Given the description of an element on the screen output the (x, y) to click on. 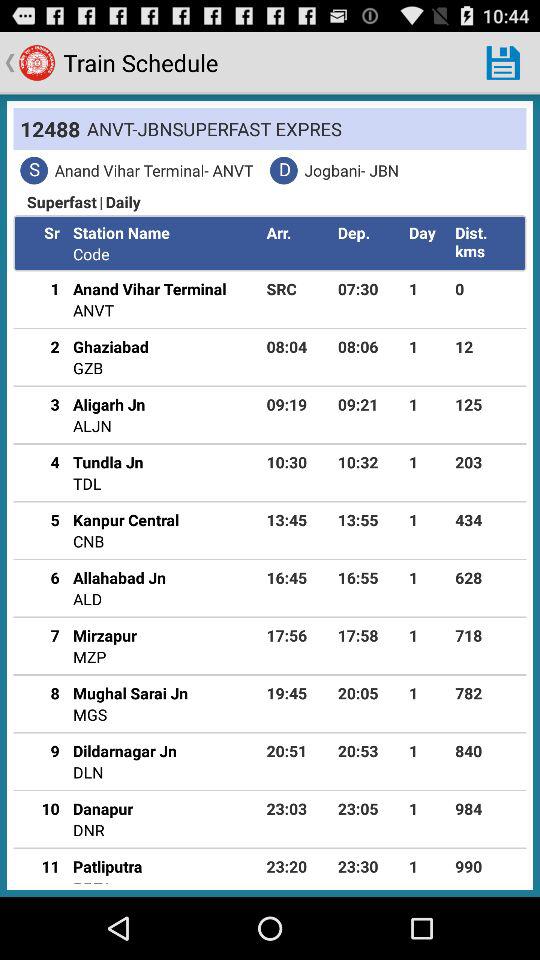
open the icon to the left of 16:45 app (119, 577)
